Given the description of an element on the screen output the (x, y) to click on. 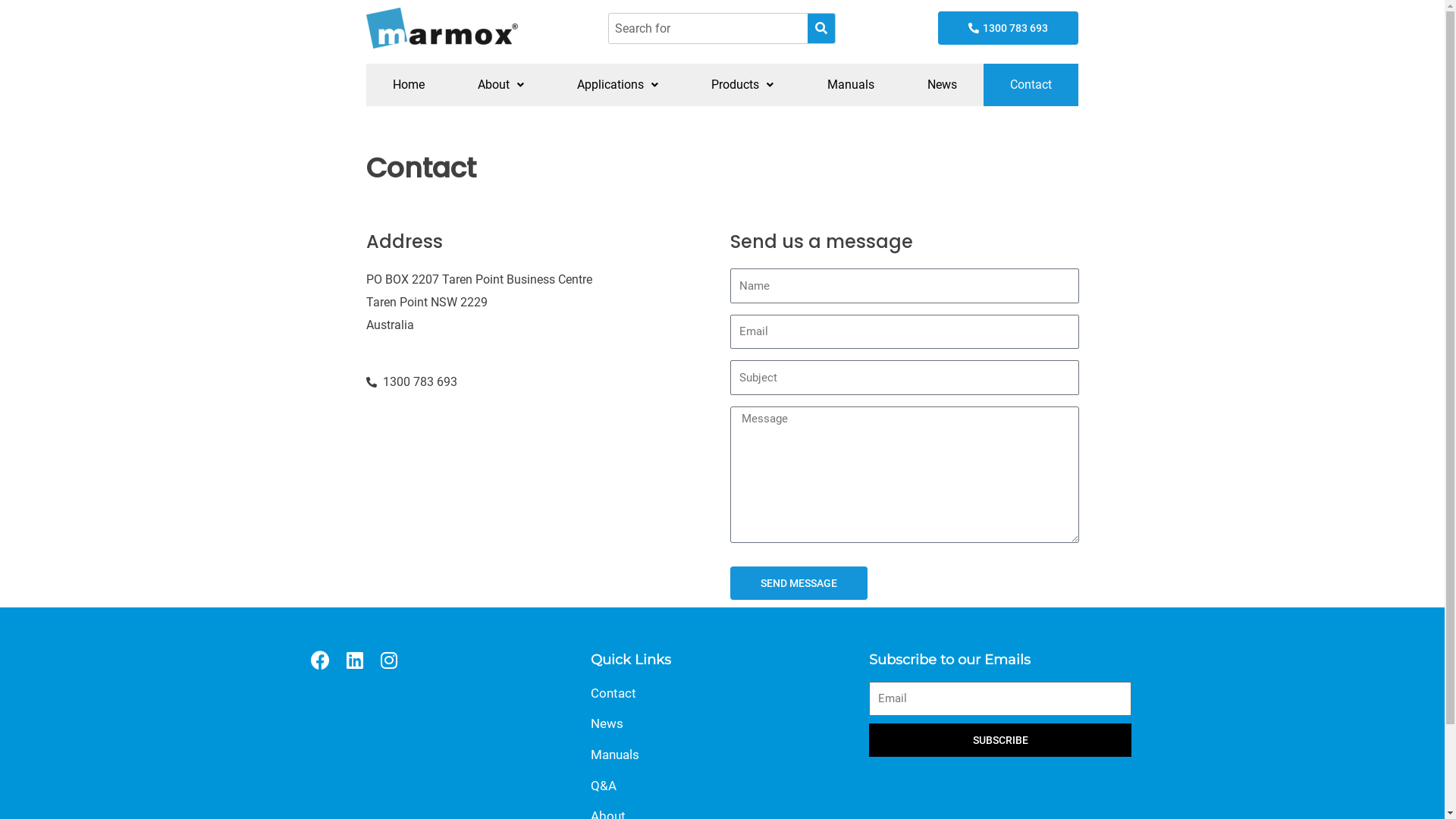
SEND MESSAGE Element type: text (797, 582)
Products Element type: text (742, 84)
1300 783 693 Element type: text (1008, 27)
SUBSCRIBE Element type: text (1000, 739)
Contact Element type: text (721, 693)
About Element type: text (500, 84)
Search Element type: hover (707, 28)
Applications Element type: text (617, 84)
News Element type: text (941, 84)
Manuals Element type: text (850, 84)
News Element type: text (721, 724)
Contact Element type: text (1030, 84)
Manuals Element type: text (721, 755)
Q&A Element type: text (721, 786)
Home Element type: text (407, 84)
